Given the description of an element on the screen output the (x, y) to click on. 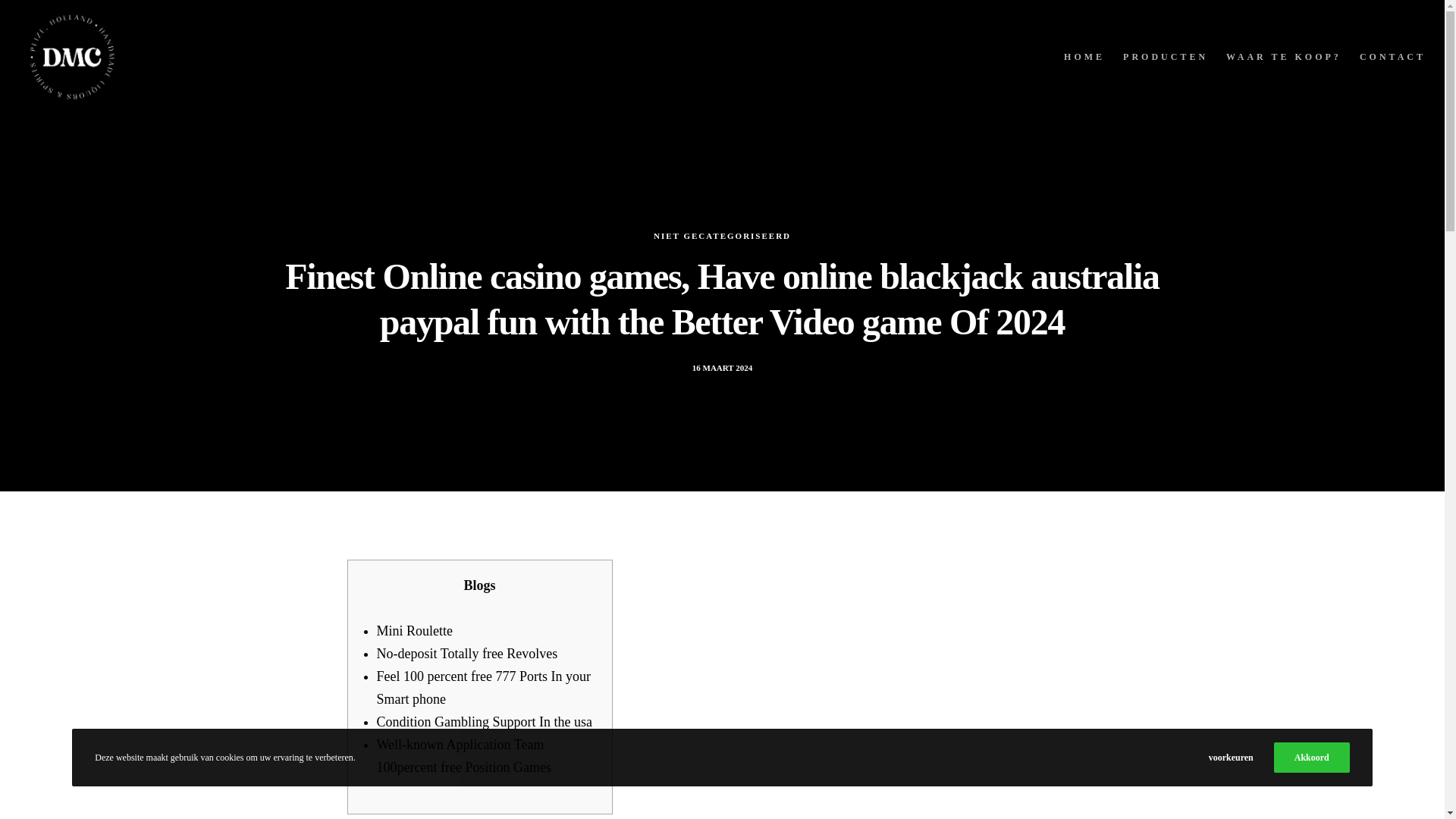
Feel 100 percent free 777 Ports In your Smart phone (482, 687)
Condition Gambling Support In the usa (483, 721)
Akkoord (1311, 757)
Mini Roulette (413, 630)
Well-known Application Team 100percent free Position Games (462, 755)
No-deposit Totally free Revolves (466, 653)
PRODUCTEN (1156, 56)
NIET GECATEGORISEERD (721, 261)
voorkeuren (1230, 757)
WAAR TE KOOP? (1274, 56)
